Given the description of an element on the screen output the (x, y) to click on. 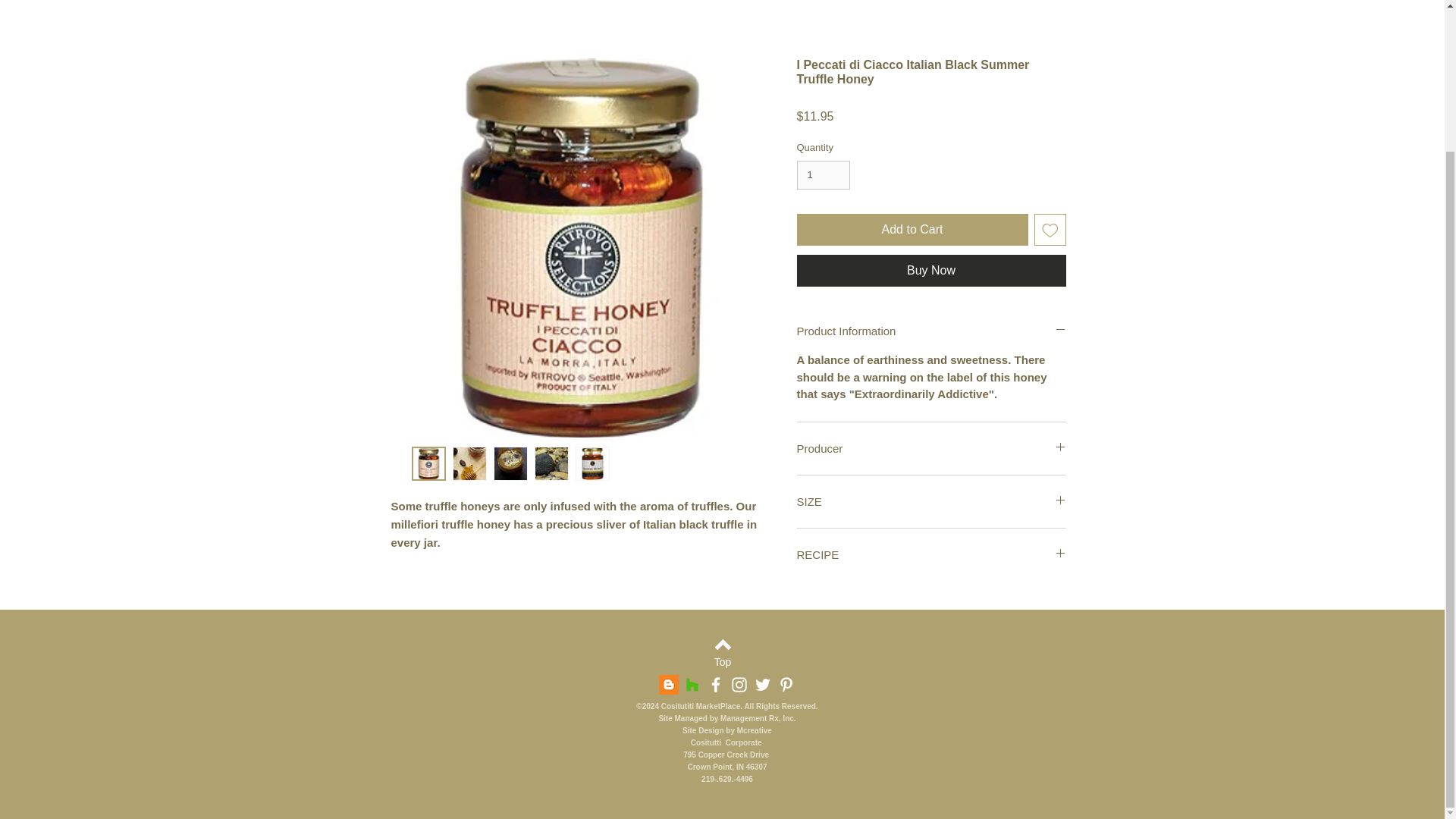
SIZE (930, 501)
Product Information (930, 330)
Top (722, 662)
1 (823, 174)
Producer (930, 448)
Add to Cart (911, 229)
RECIPE (930, 554)
Buy Now (930, 270)
